Given the description of an element on the screen output the (x, y) to click on. 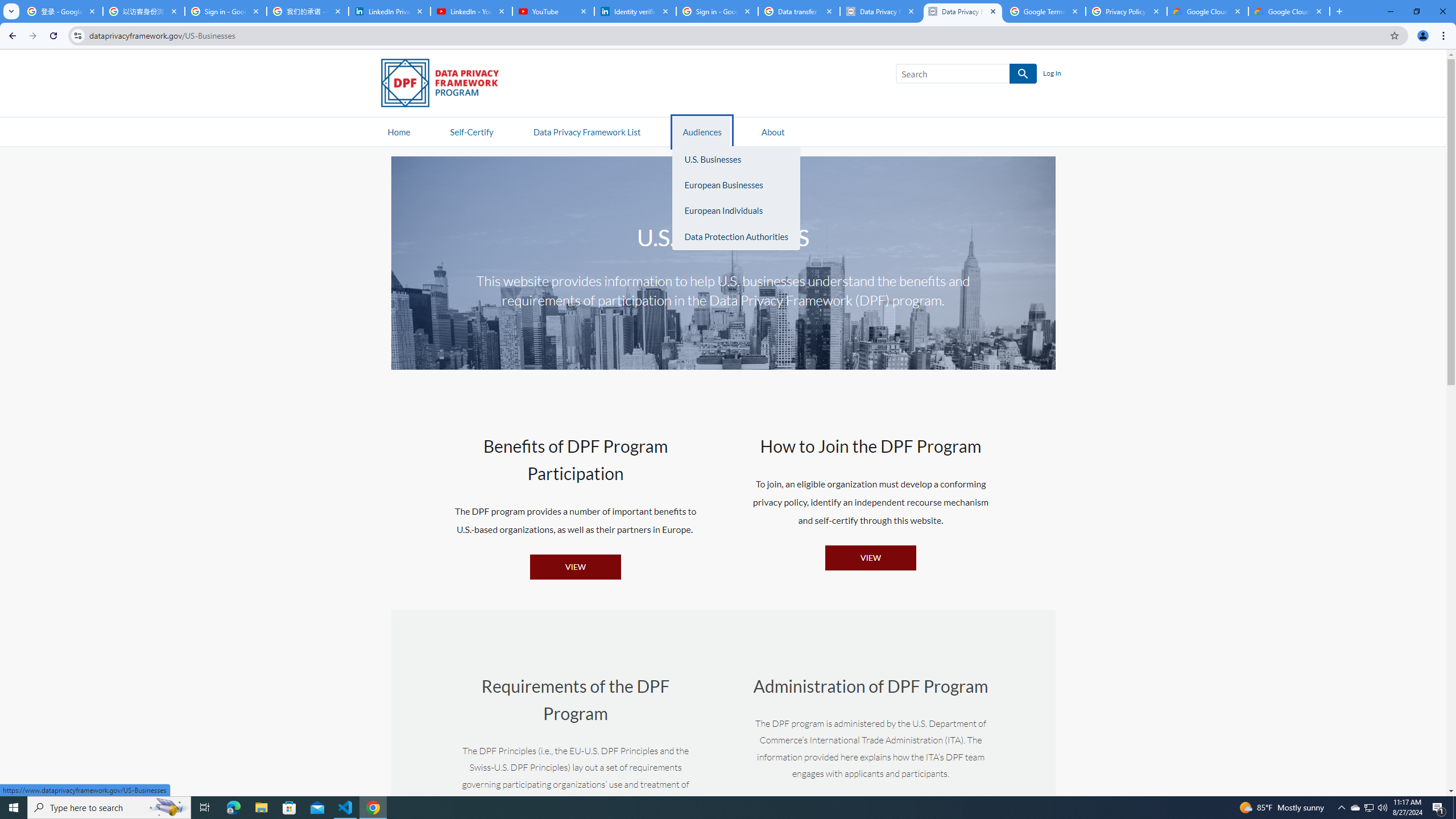
Data Privacy Framework (880, 11)
AutomationID: navitem2 (772, 131)
Google Cloud Privacy Notice (1289, 11)
Data Privacy Framework (963, 11)
AutomationID: navitem (700, 131)
Home (398, 131)
Log In (1051, 73)
SEARCH (1022, 73)
Self-Certify (471, 131)
Audiences (702, 131)
U.S. Businesses (735, 158)
European Individuals (735, 211)
